Given the description of an element on the screen output the (x, y) to click on. 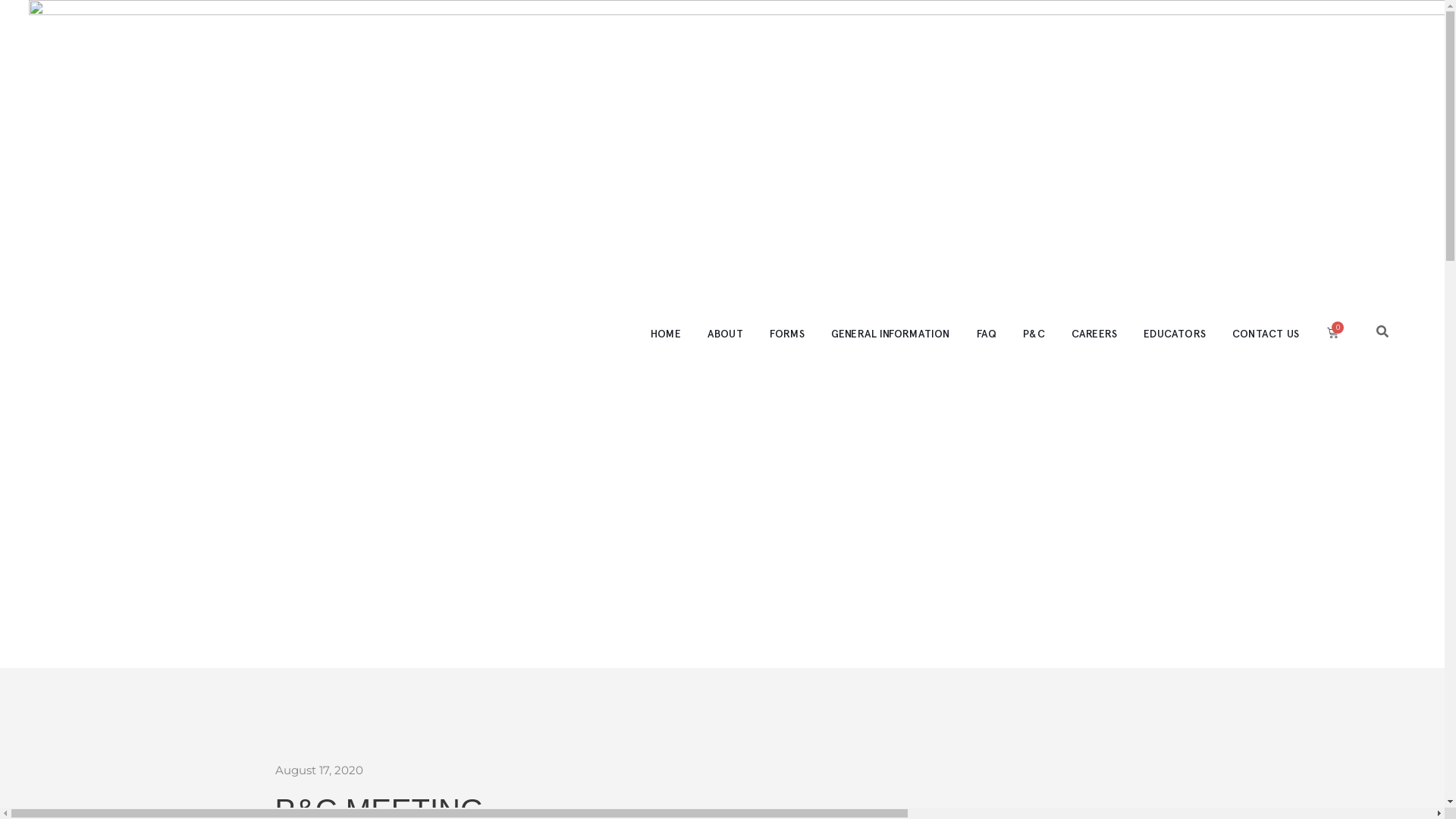
August 17, 2020 Element type: text (318, 770)
GENERAL INFORMATION Element type: text (890, 333)
0 Element type: text (1332, 332)
CONTACT US Element type: text (1265, 333)
HOME Element type: text (665, 333)
ABOUT Element type: text (725, 333)
FORMS Element type: text (786, 333)
CAREERS Element type: text (1094, 333)
FAQ Element type: text (986, 333)
EDUCATORS Element type: text (1174, 333)
P&C Element type: text (1033, 333)
